Given the description of an element on the screen output the (x, y) to click on. 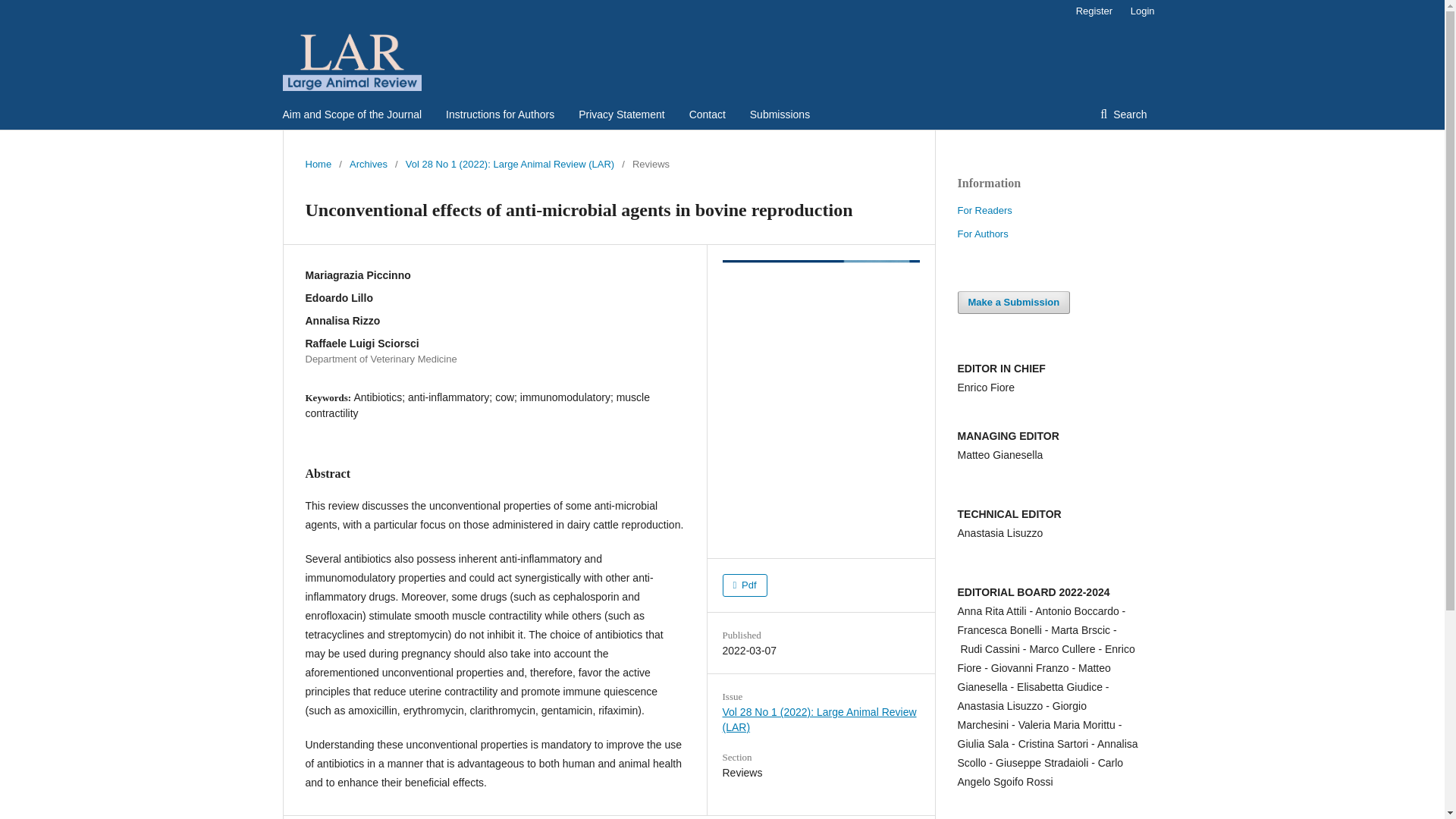
Contact (706, 114)
Aim and Scope of the Journal (352, 114)
Submissions (779, 114)
Make a Submission (1013, 302)
Archives (368, 164)
For Authors (981, 233)
Home (317, 164)
Login (1138, 11)
Instructions for Authors (499, 114)
Register (1093, 11)
Pdf (744, 585)
Privacy Statement (621, 114)
For Readers (983, 210)
Search (1122, 114)
